Given the description of an element on the screen output the (x, y) to click on. 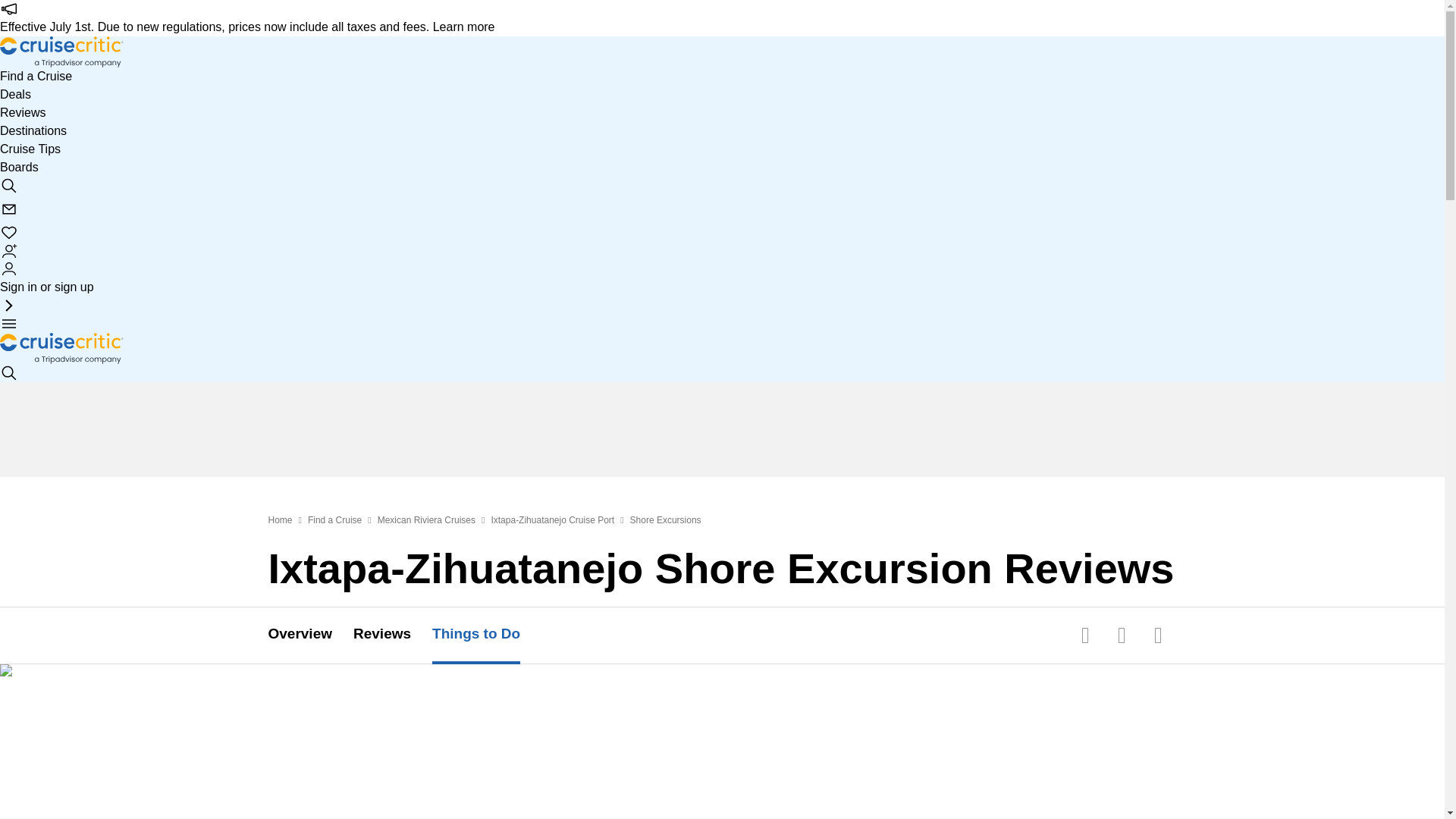
Destinations (33, 131)
Ixtapa-Zihuatanejo Cruise Port (552, 520)
Overview (310, 635)
Reviews (22, 113)
Sign in or sign up (47, 277)
Mexican Riviera Cruises (426, 520)
Boards (19, 166)
Find a Cruise (35, 75)
Things to Do (486, 635)
Shore Excursions (665, 520)
